Given the description of an element on the screen output the (x, y) to click on. 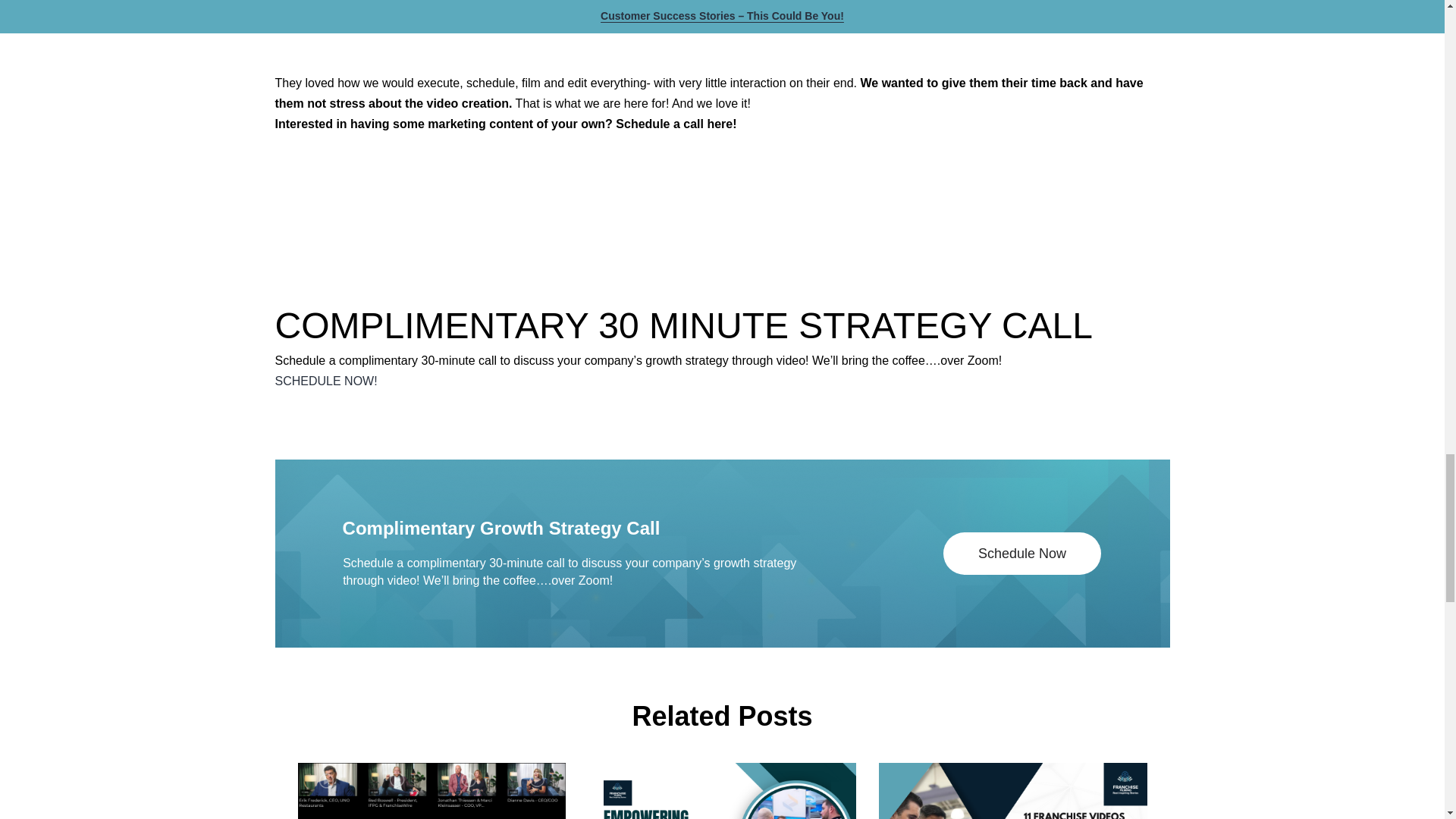
SCHEDULE NOW! (326, 380)
YouTube video player (486, 33)
Schedule Now (1021, 553)
YouTube video player (956, 33)
